Given the description of an element on the screen output the (x, y) to click on. 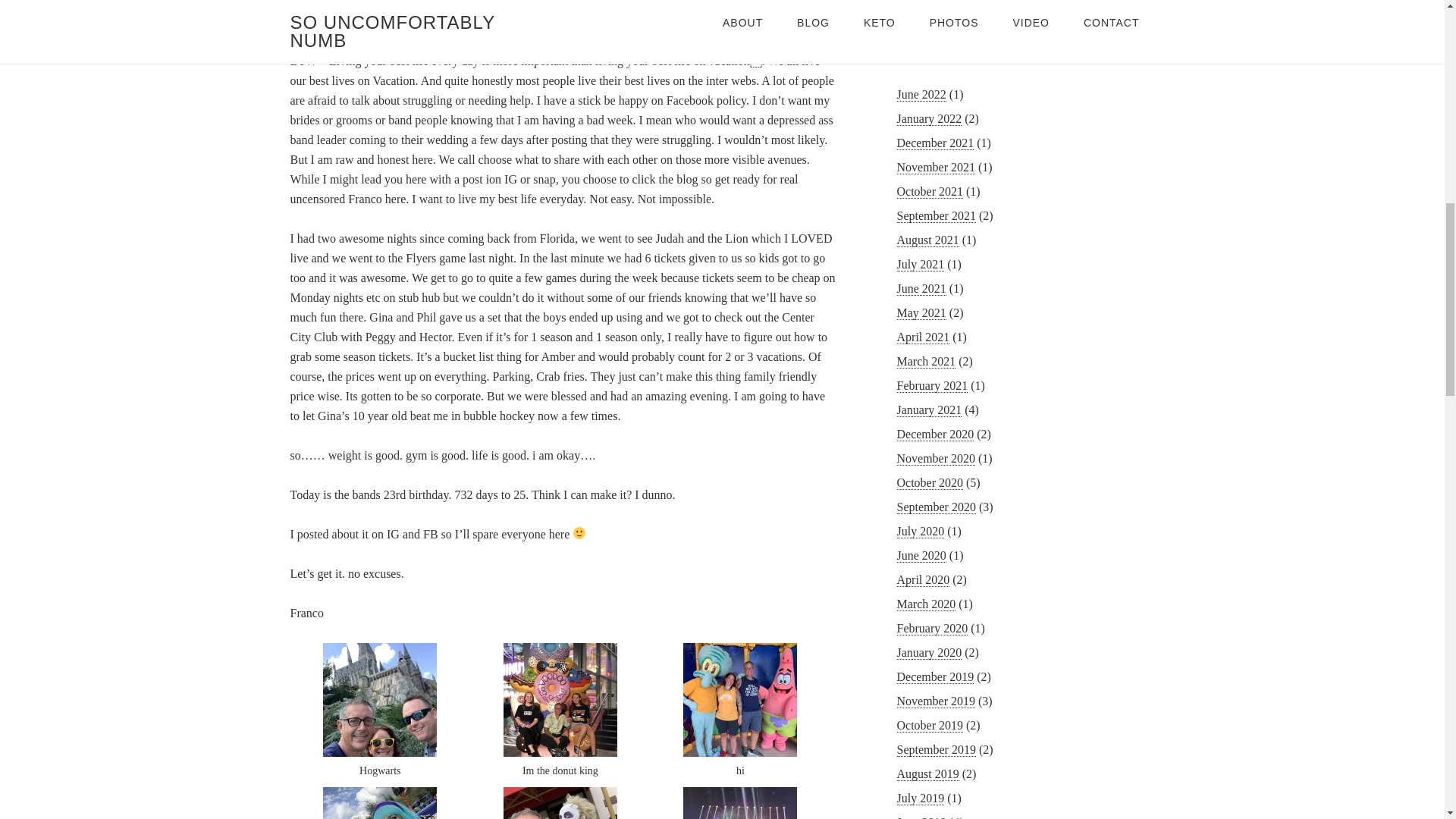
June 2022 (920, 94)
More about me (1019, 9)
January 2022 (928, 119)
